Given the description of an element on the screen output the (x, y) to click on. 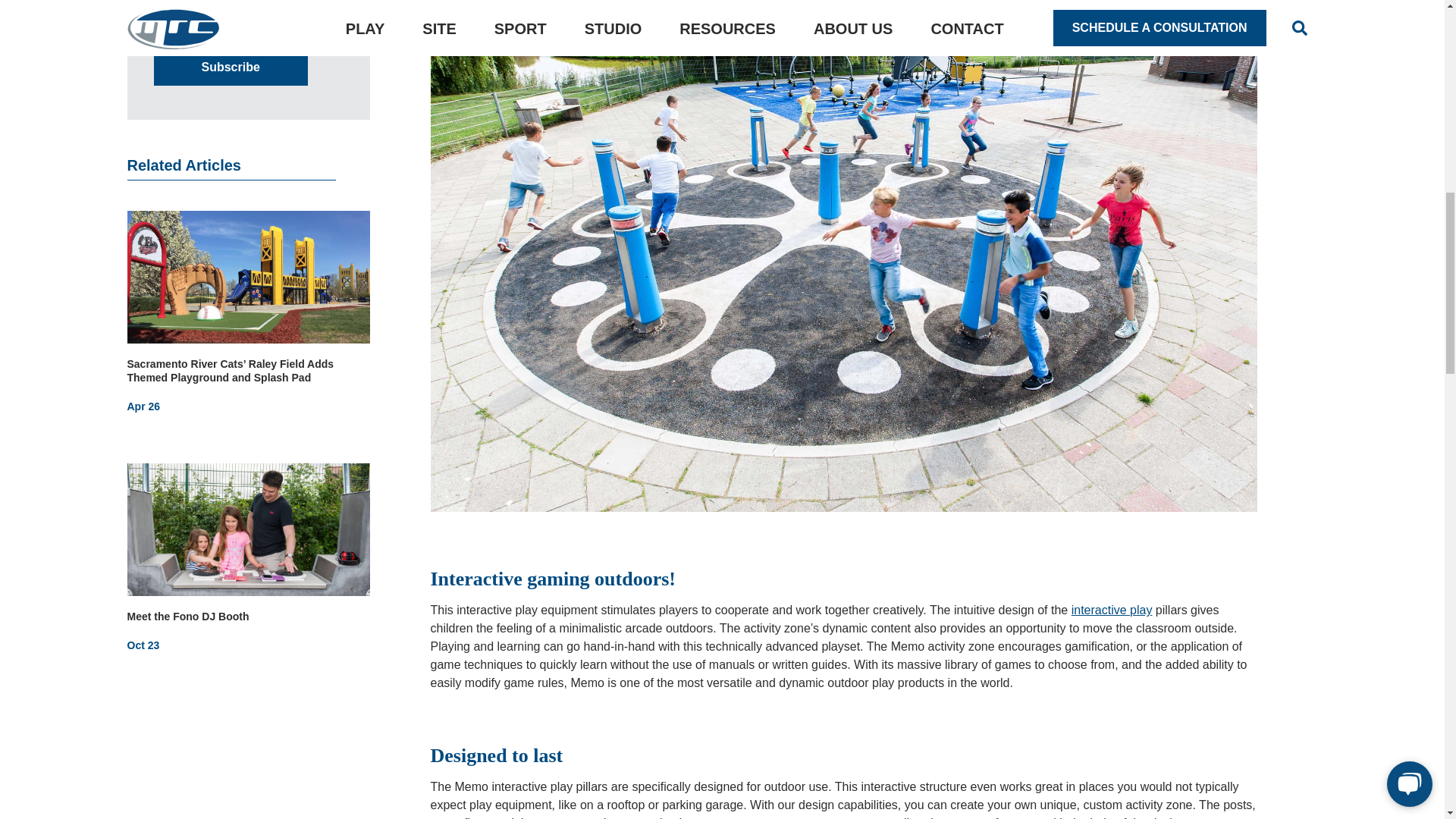
Subscribe (229, 66)
